Given the description of an element on the screen output the (x, y) to click on. 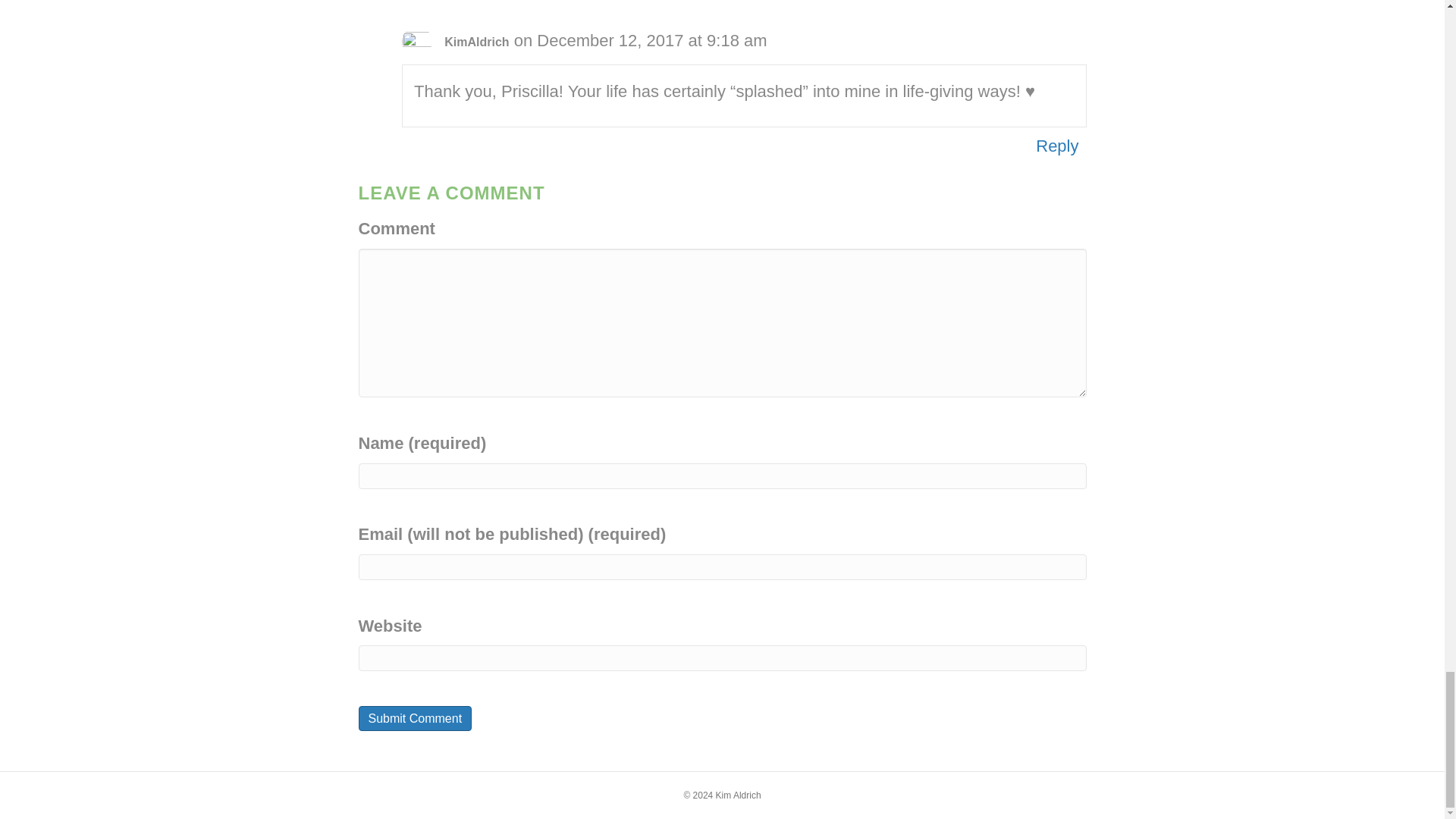
Submit Comment (414, 718)
Reply (1056, 2)
Reply (1056, 145)
Submit Comment (414, 718)
